Given the description of an element on the screen output the (x, y) to click on. 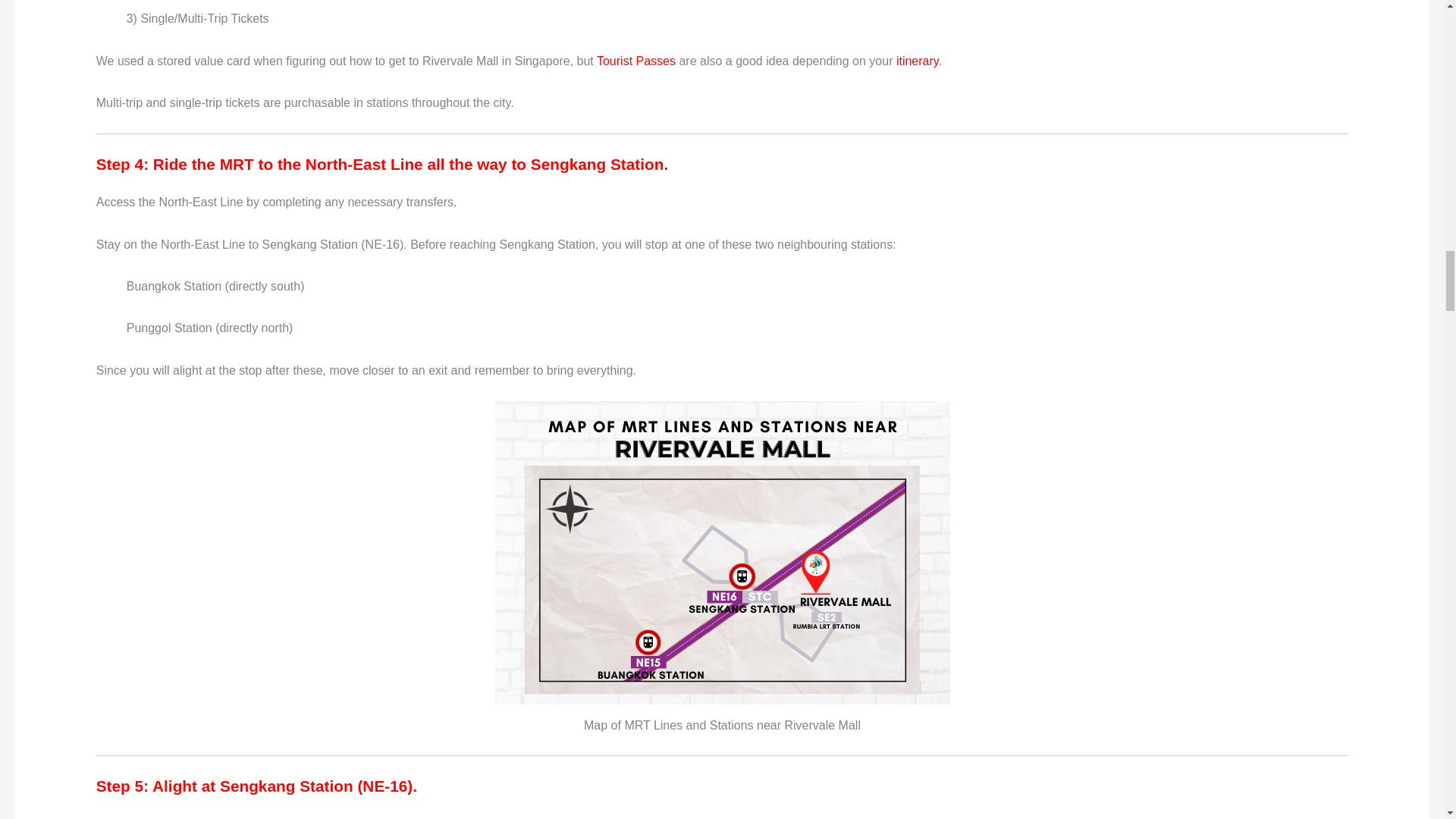
itinerary (917, 60)
Tourist Passes (635, 60)
